Given the description of an element on the screen output the (x, y) to click on. 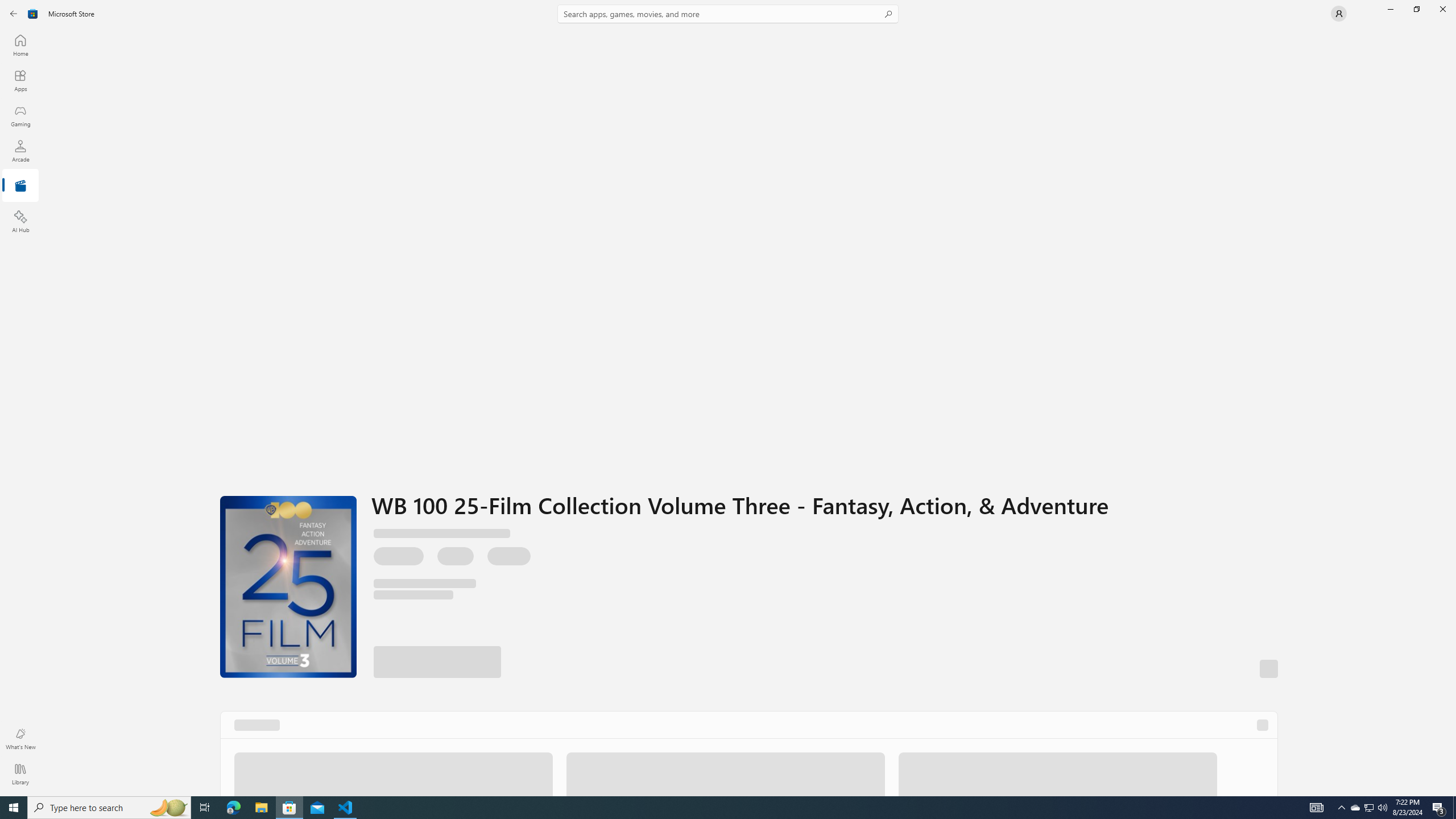
Back (13, 13)
